Given the description of an element on the screen output the (x, y) to click on. 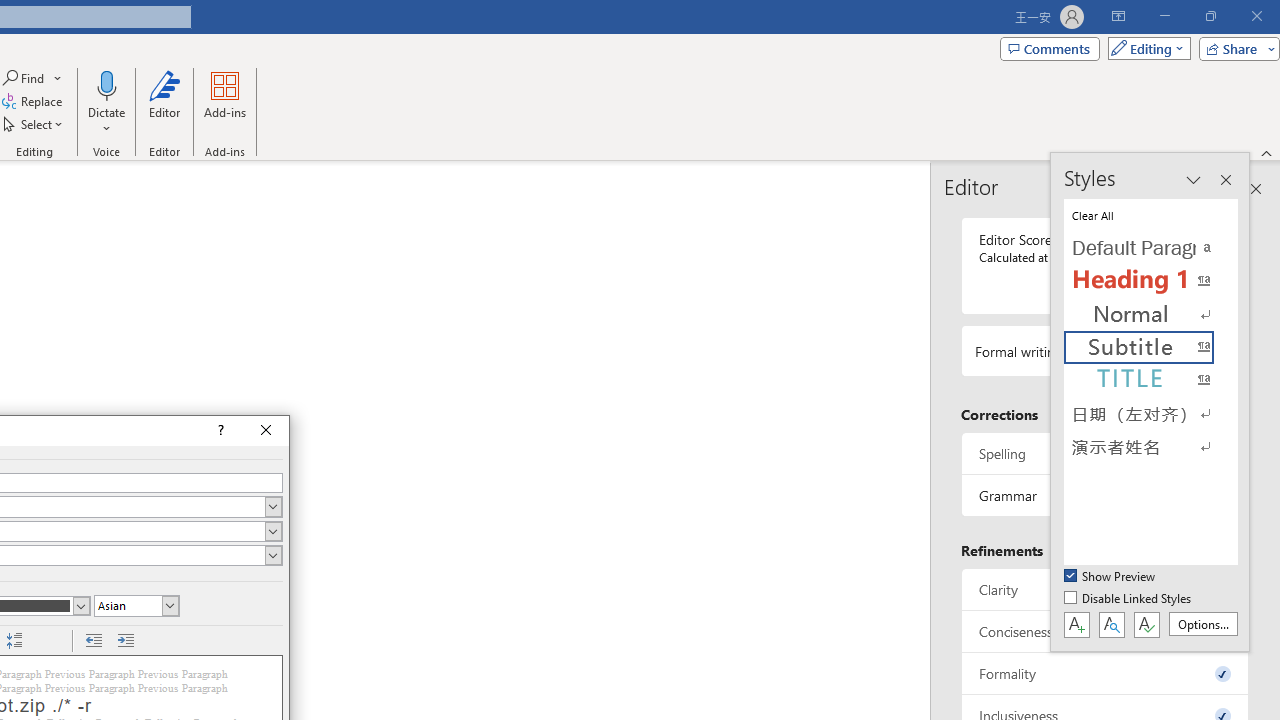
Grammar, 1 issue. Press space or enter to review items. (1105, 495)
Decrease Paragraph Spacing (14, 641)
Default Paragraph Font (1150, 247)
MSO Generic Control Container (14, 641)
Disable Linked Styles (1129, 599)
Spelling, 0 issues. Press space or enter to review items. (1105, 452)
Options... (1202, 623)
